Given the description of an element on the screen output the (x, y) to click on. 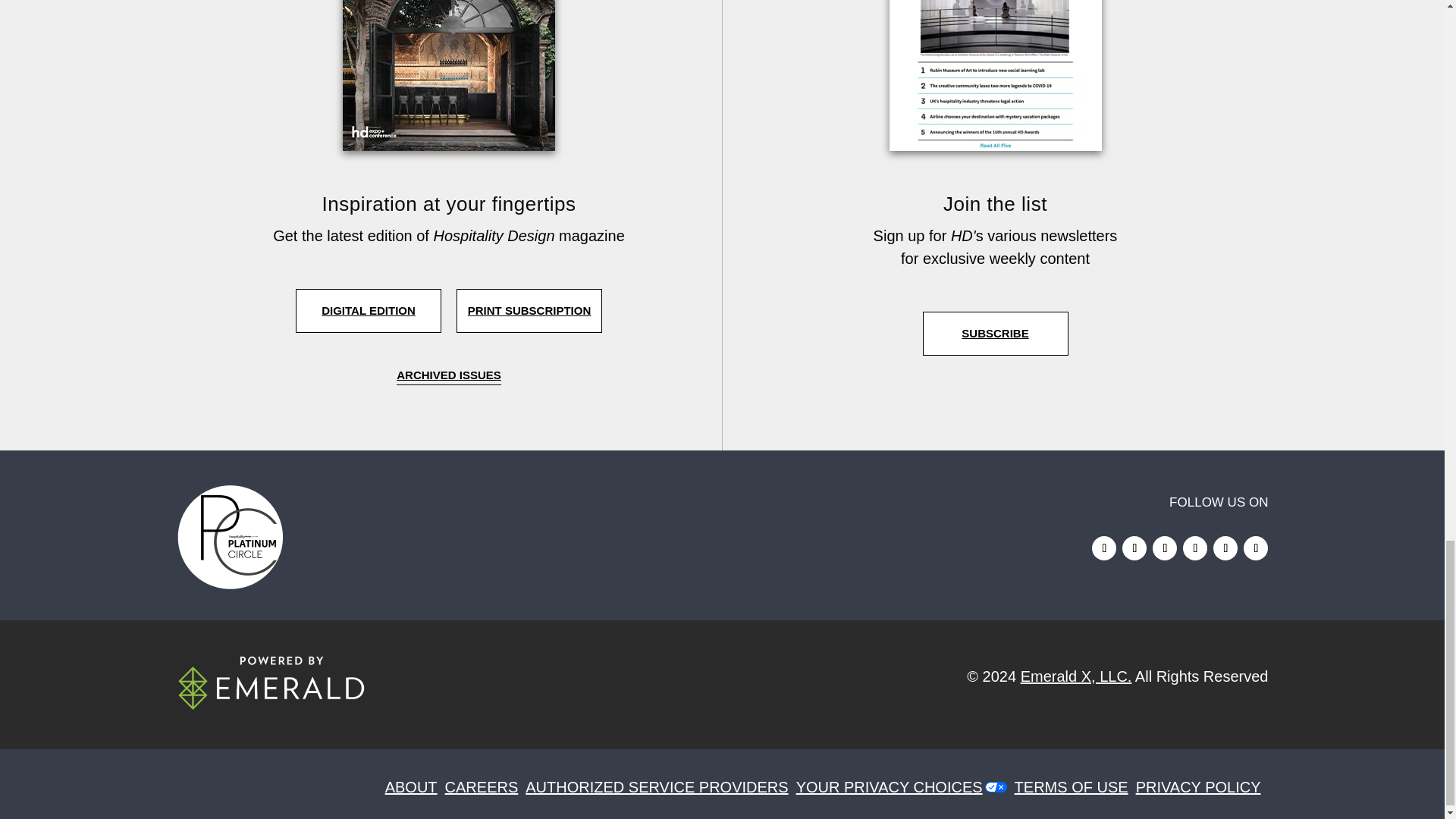
your-privacy-choices (893, 786)
Follow on LinkedIn (1134, 548)
YOUR PRIVACY CHOICES (893, 786)
preview-full-Newsletter-Five-on-Friday (994, 75)
CAREERS (485, 786)
Follow on Twitter (1224, 548)
terms-of-use (1074, 786)
SUBSCRIBE (994, 333)
authorized-service-providers (659, 786)
Follow on Pinterest (1194, 548)
AUTHORIZED SERVICE PROVIDERS (659, 786)
careers (485, 786)
DIGITAL EDITION (368, 310)
Follow on Facebook (1164, 548)
PRINT SUBSCRIPTION (529, 310)
